Given the description of an element on the screen output the (x, y) to click on. 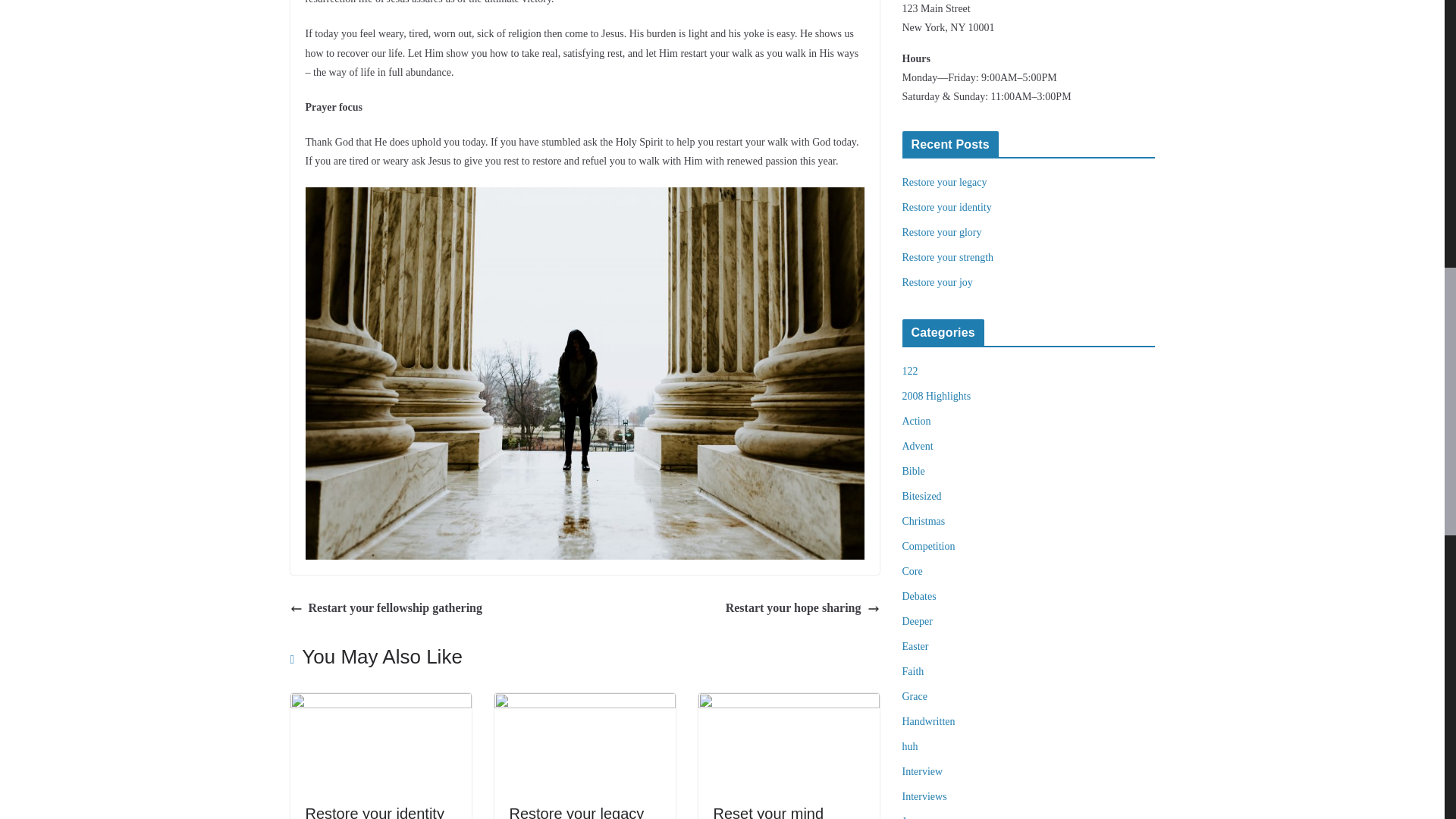
Restart your intimacy (379, 703)
Restart your fellowship gathering (385, 608)
Restart your prayer (585, 703)
122 (910, 370)
Restore your strength (948, 256)
Advent (917, 446)
Restore your legacy (944, 182)
Restore your identity (946, 206)
Reset your focus (770, 812)
Action (916, 420)
